Given the description of an element on the screen output the (x, y) to click on. 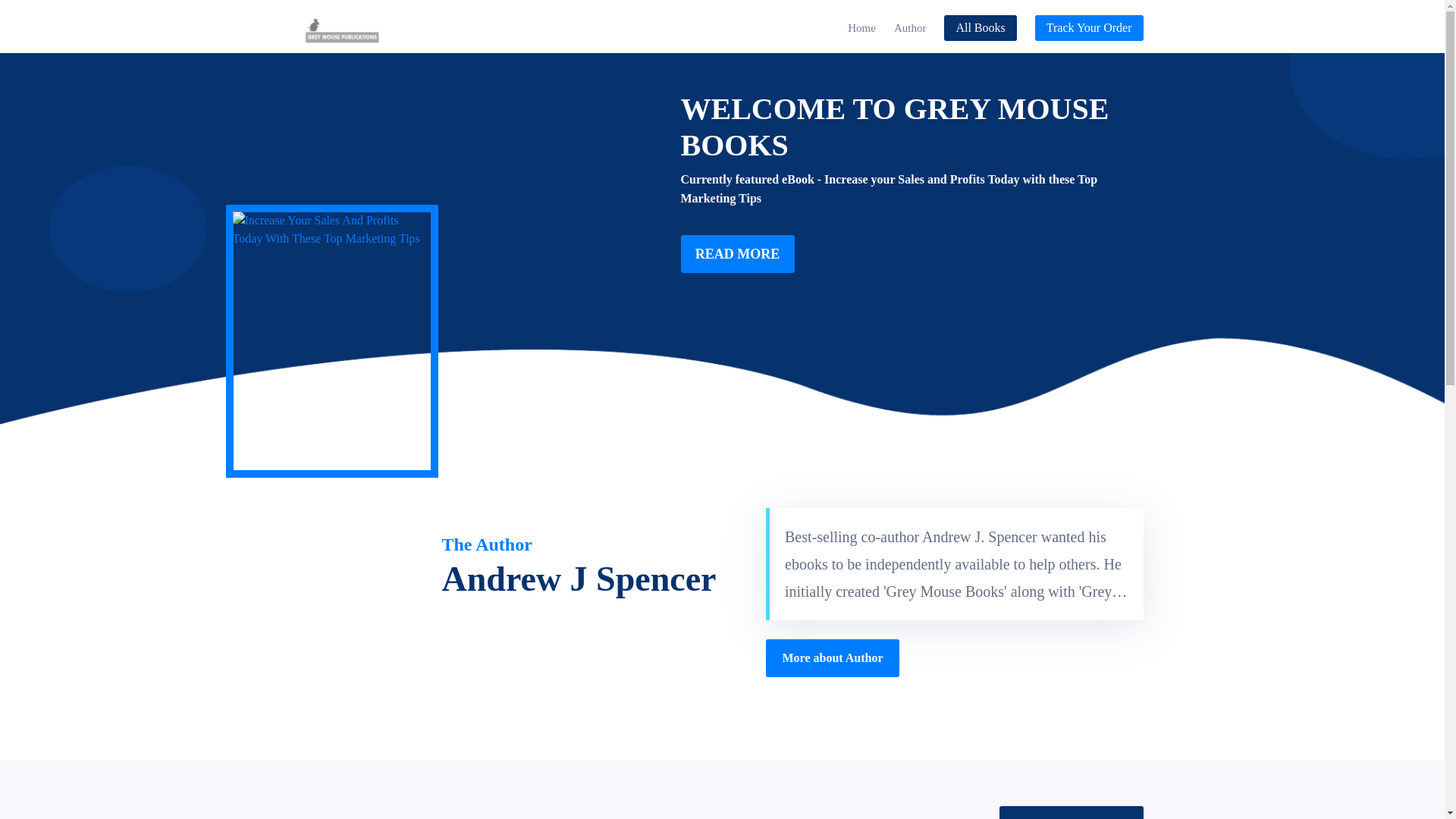
READ MORE (737, 253)
View All Books (1070, 812)
Track Your Order (1088, 27)
Home (861, 27)
Author (909, 27)
All Books (979, 27)
More about Author (832, 658)
